Given the description of an element on the screen output the (x, y) to click on. 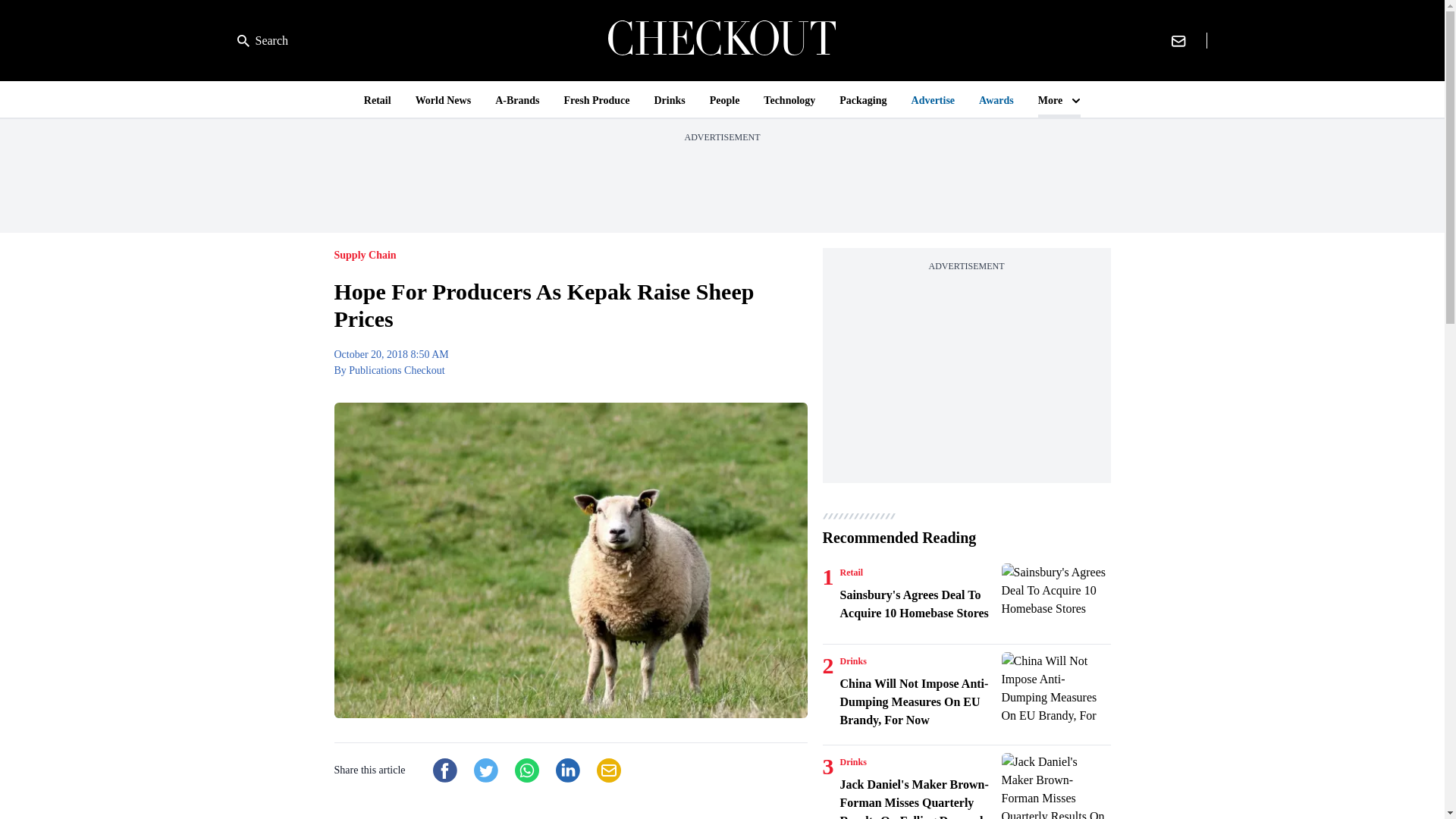
Sainsbury's Agrees Deal To Acquire 10 Homebase Stores (917, 604)
Checkout (721, 40)
Sainsbury's Agrees Deal To Acquire 10 Homebase Stores (1055, 599)
Drinks (853, 761)
Retail (851, 572)
Search (261, 40)
Drinks (853, 661)
